Given the description of an element on the screen output the (x, y) to click on. 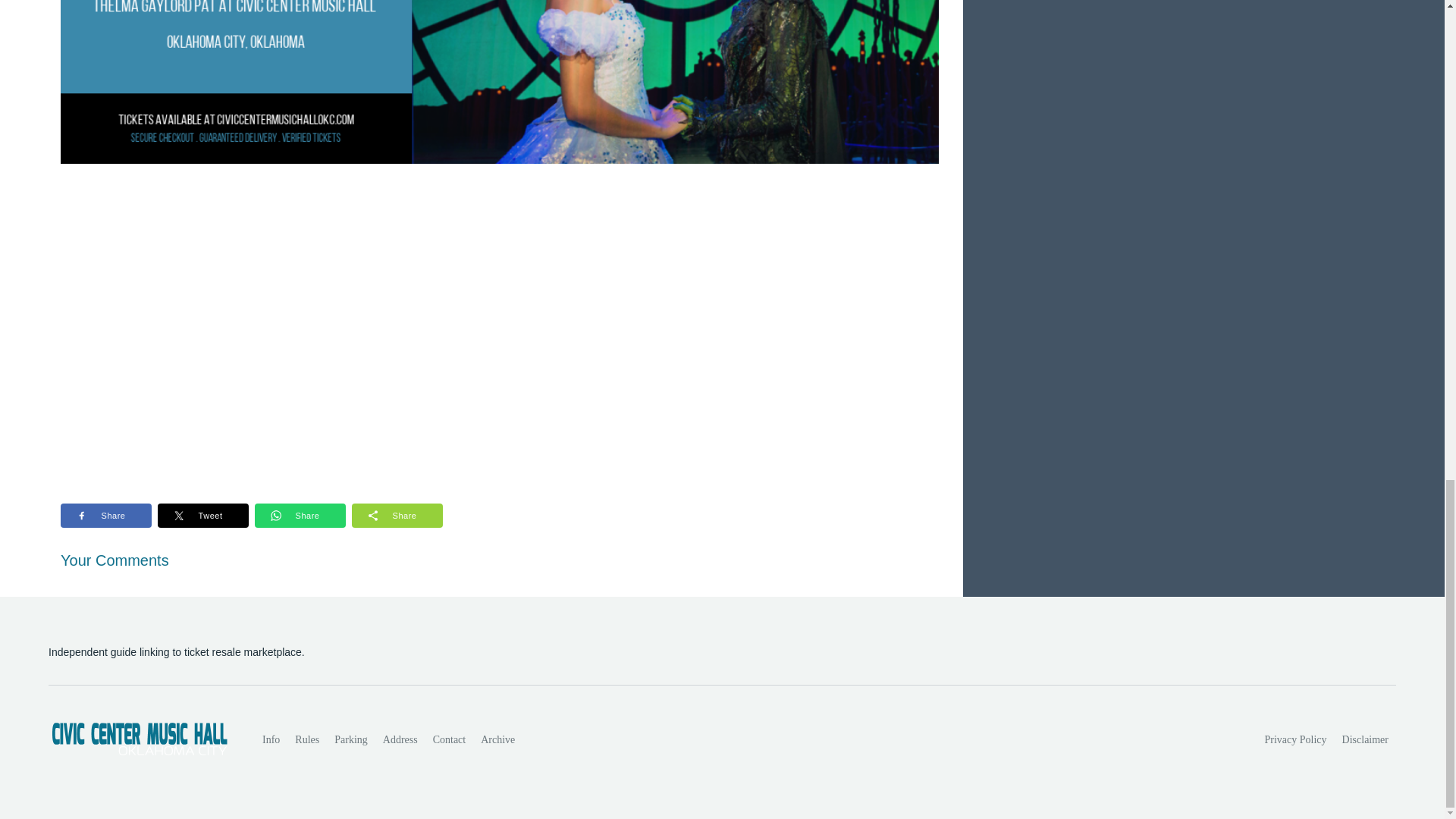
Privacy Policy (1296, 739)
Contact (449, 739)
Info (270, 739)
Archive (497, 739)
Disclaimer (1365, 739)
Parking (350, 739)
Address (400, 739)
Rules (306, 739)
